Given the description of an element on the screen output the (x, y) to click on. 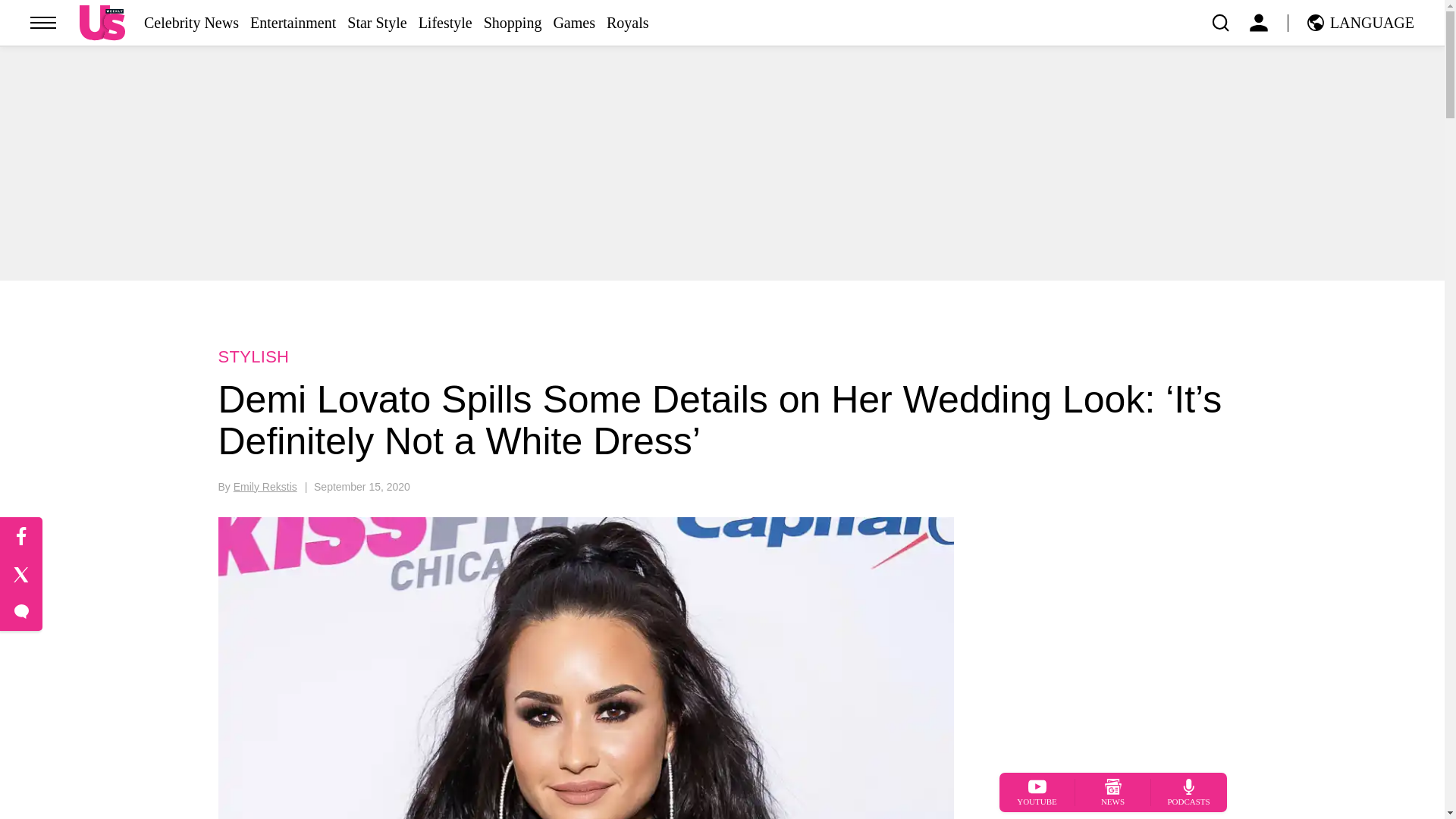
Games (574, 22)
Click to share on Twitter (21, 574)
Posts by Emily Rekstis (264, 486)
Star Style (376, 22)
Entertainment (293, 22)
Us Weekly Magazine (102, 22)
Shopping (512, 22)
Lifestyle (445, 22)
Click to share on Facebook (21, 536)
Celebrity News (191, 22)
